Given the description of an element on the screen output the (x, y) to click on. 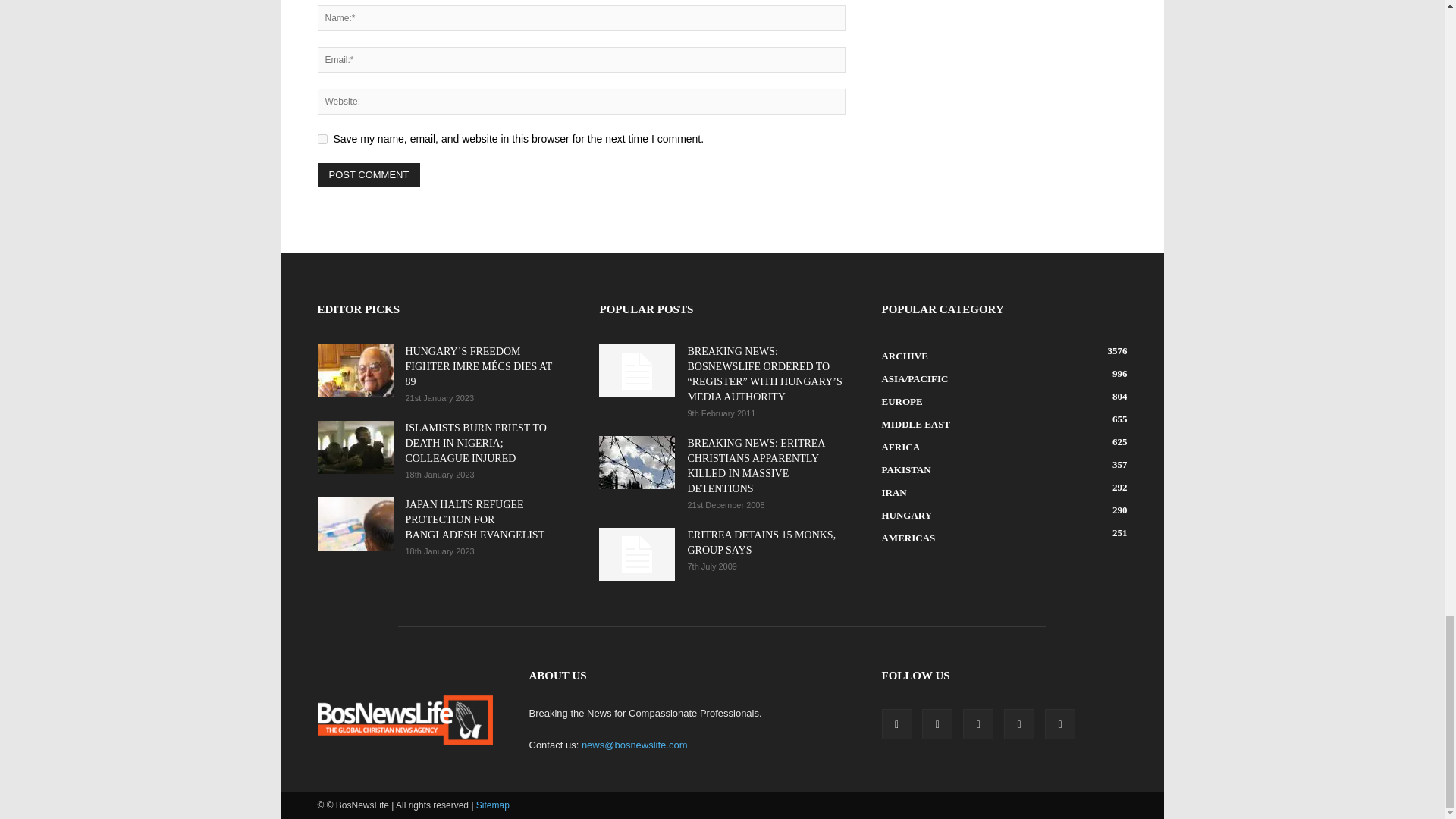
yes (321, 139)
Post Comment (368, 174)
